Given the description of an element on the screen output the (x, y) to click on. 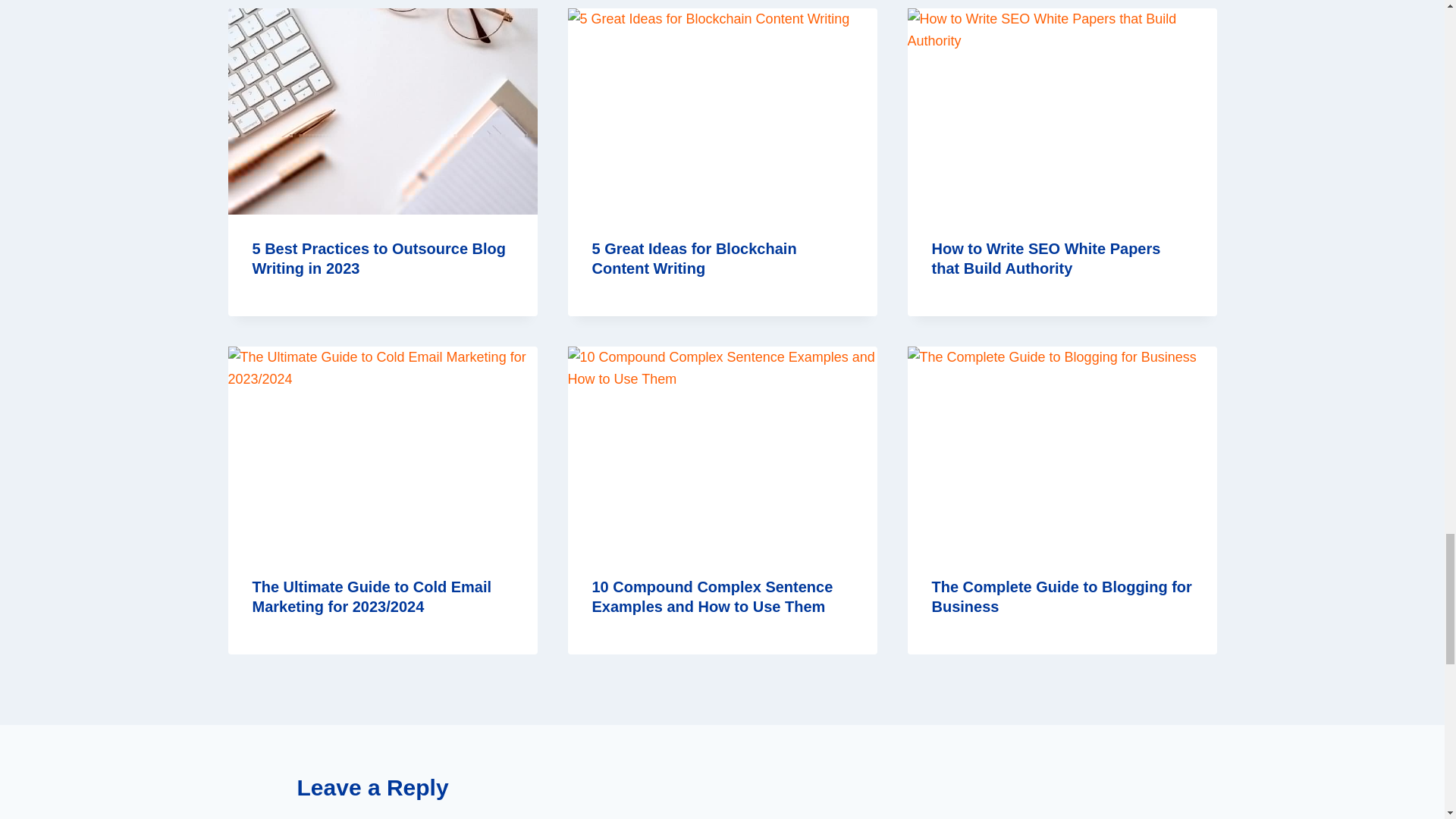
5 Great Ideas for Blockchain Content Writing 3 (721, 111)
10 Compound Complex Sentence Examples and How to Use Them 6 (721, 449)
The Complete Guide to Blogging for Business 7 (1061, 449)
How to Write SEO White Papers that Build Authority 4 (1061, 111)
5 Best Practices to Outsource Blog Writing in 2023 2 (382, 111)
